Given the description of an element on the screen output the (x, y) to click on. 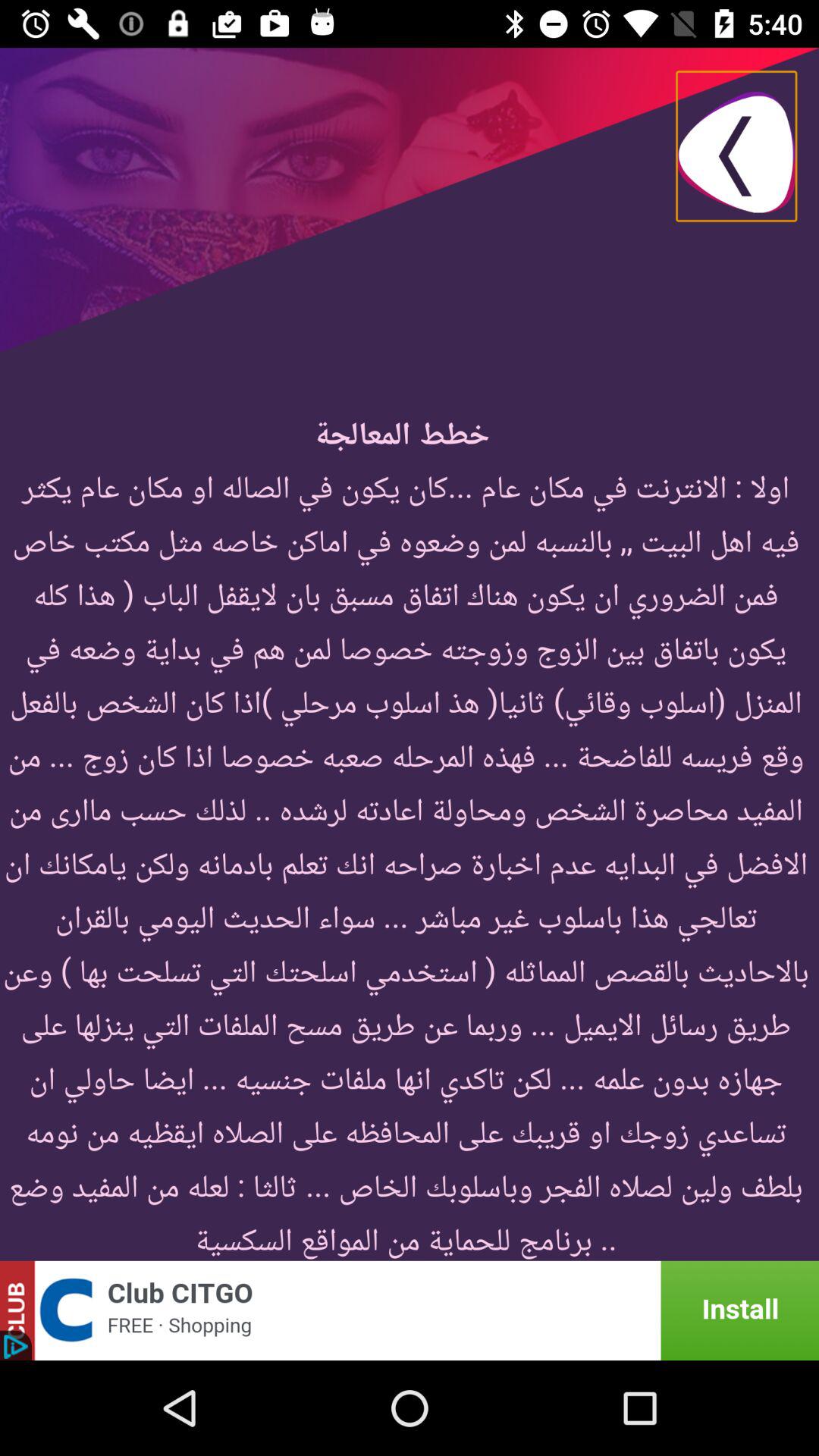
advertisement page (409, 1310)
